Given the description of an element on the screen output the (x, y) to click on. 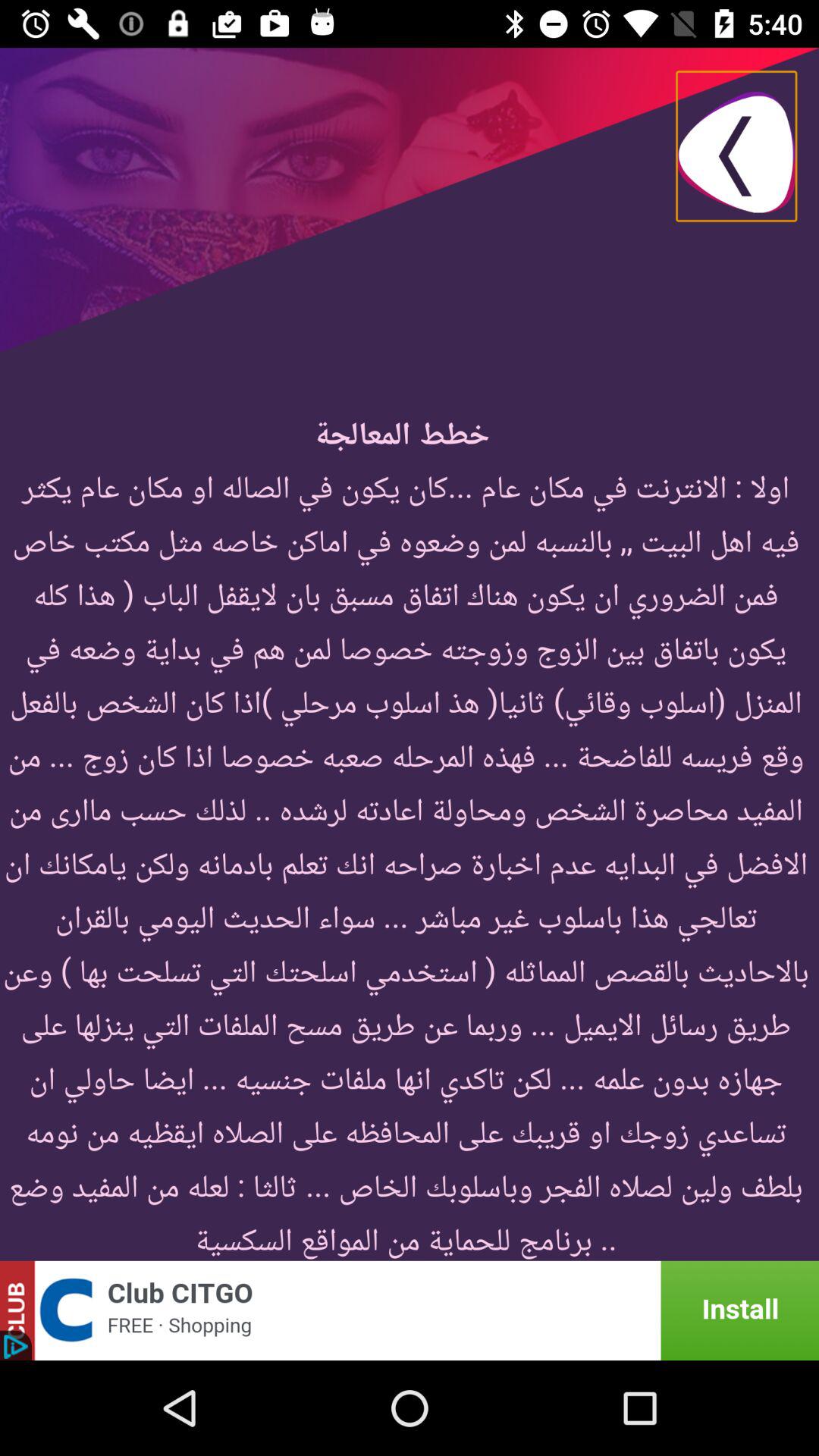
advertisement page (409, 1310)
